Given the description of an element on the screen output the (x, y) to click on. 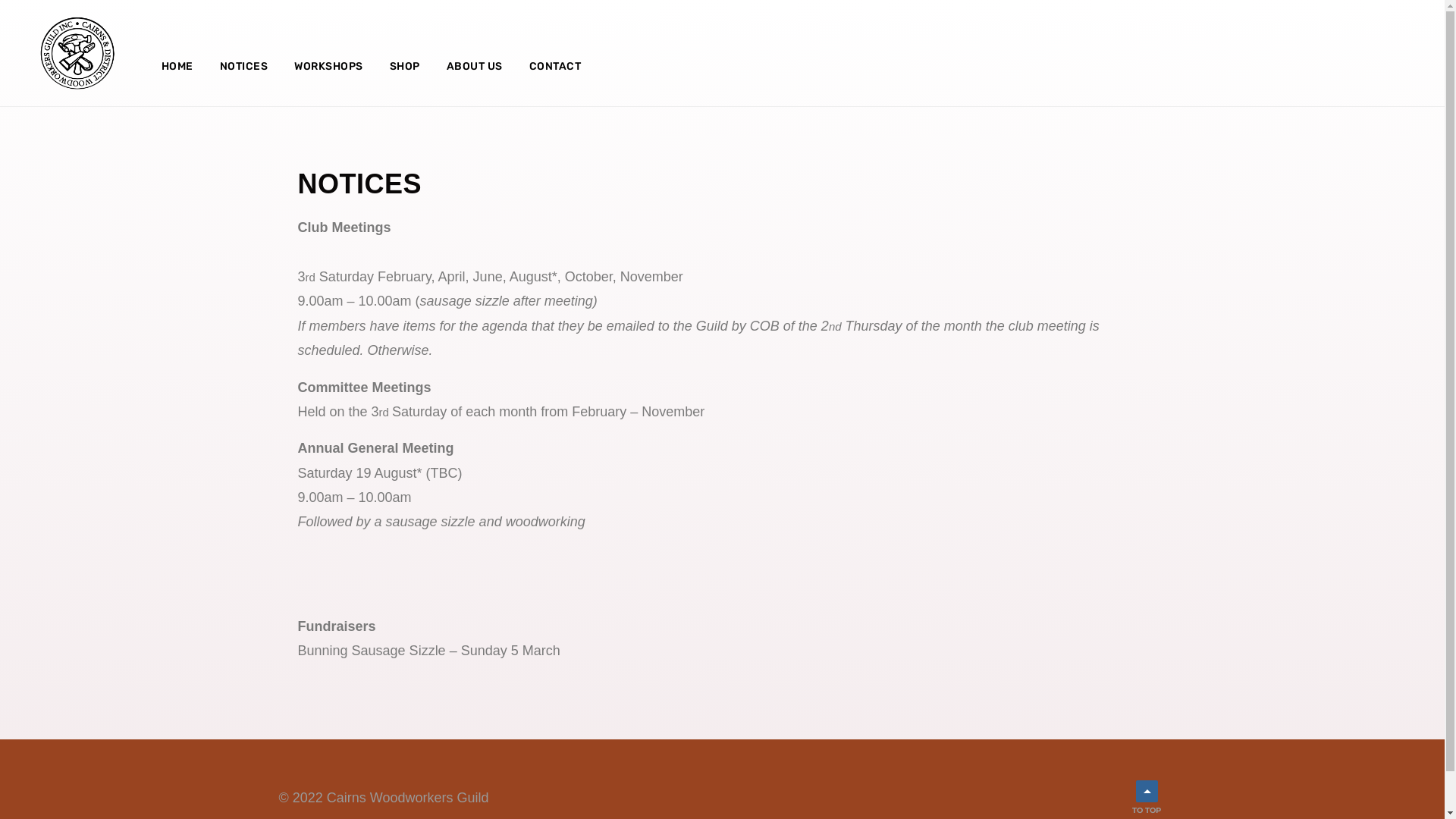
HOME Element type: text (177, 66)
NOTICES Element type: text (243, 66)
ABOUT US Element type: text (474, 66)
WORKSHOPS Element type: text (328, 66)
SHOP Element type: text (404, 66)
CONTACT Element type: text (555, 66)
